Given the description of an element on the screen output the (x, y) to click on. 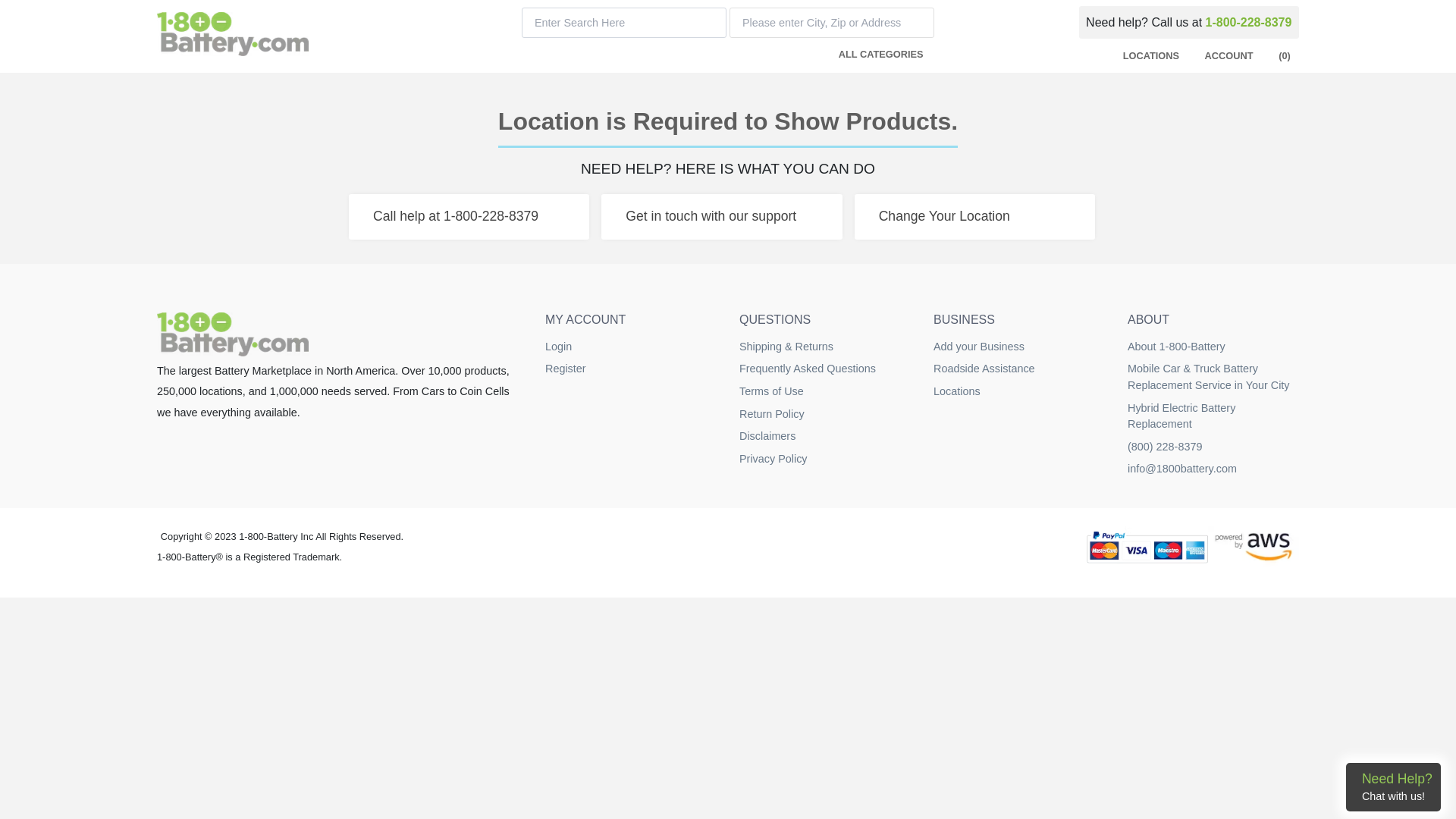
Login Element type: text (558, 346)
Change Your Location Element type: text (974, 216)
Need Help?
Chat with us! Element type: text (1393, 786)
Disclaimers Element type: text (767, 435)
Shipping & Returns Element type: text (786, 346)
(800) 228-8379 Element type: text (1164, 446)
Return Policy Element type: text (771, 413)
ALL CATEGORIES Element type: text (877, 54)
Add your Business Element type: text (978, 346)
Roadside Assistance Element type: text (984, 368)
Register Element type: text (565, 368)
Frequently Asked Questions Element type: text (807, 368)
Call help at 1-800-228-8379 Element type: text (468, 216)
Privacy Policy Element type: text (773, 458)
info@1800battery.com Element type: text (1181, 468)
Get in touch with our support Element type: text (721, 216)
LOCATIONS Element type: text (1147, 55)
Terms of Use Element type: text (771, 391)
1-800-228-8379 Element type: text (1248, 21)
Locations Element type: text (956, 391)
ACCOUNT Element type: text (1225, 55)
Hybrid Electric Battery Replacement Element type: text (1181, 415)
(0) Element type: text (1281, 55)
About 1-800-Battery Element type: text (1176, 346)
Mobile Car & Truck Battery Replacement Service in Your City Element type: text (1208, 376)
